Given the description of an element on the screen output the (x, y) to click on. 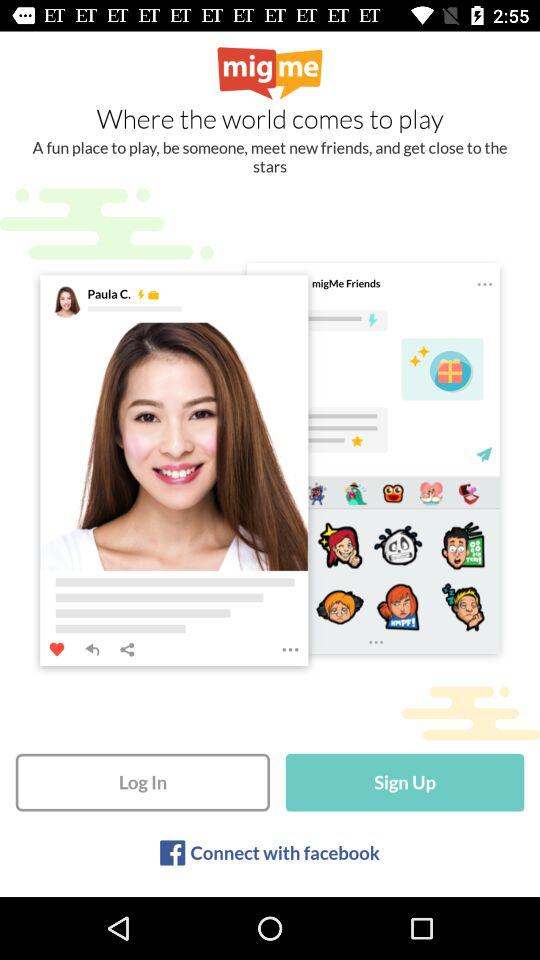
select icon next to sign up icon (142, 782)
